Given the description of an element on the screen output the (x, y) to click on. 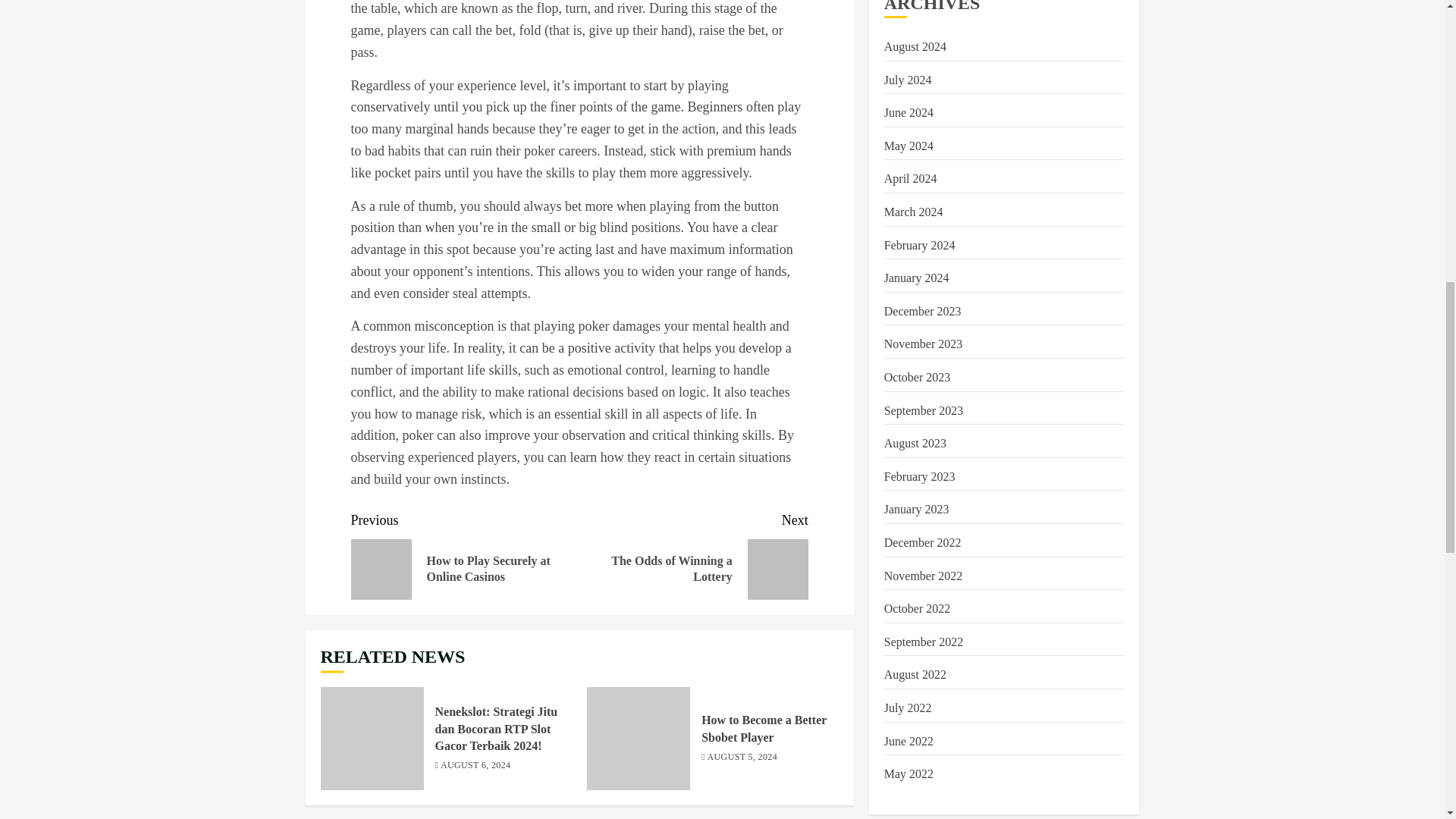
How to Become a Better Sbobet Player (764, 728)
August 2023 (914, 443)
How to Become a Better Sbobet Player (638, 738)
January 2024 (916, 278)
March 2024 (693, 554)
December 2023 (913, 212)
May 2024 (921, 311)
February 2024 (908, 146)
August 2024 (919, 245)
